Given the description of an element on the screen output the (x, y) to click on. 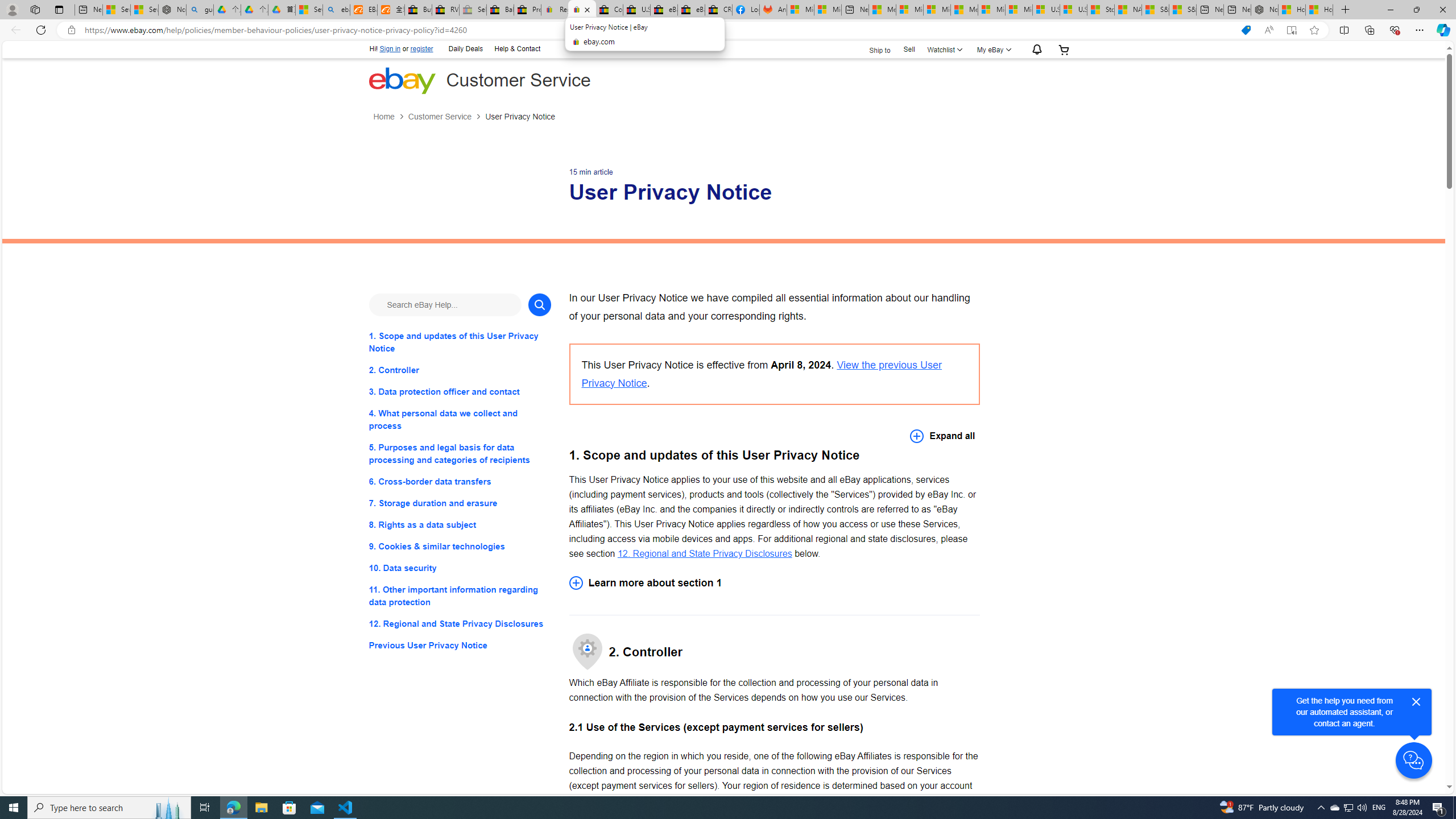
12. Regional and State Privacy Disclosures (459, 623)
1. Scope and updates of this User Privacy Notice (459, 341)
Help & Contact (516, 48)
Learn more about section 1 (774, 582)
User Privacy Notice | eBay (581, 9)
4. What personal data we collect and process (459, 419)
Watchlist (943, 49)
